Given the description of an element on the screen output the (x, y) to click on. 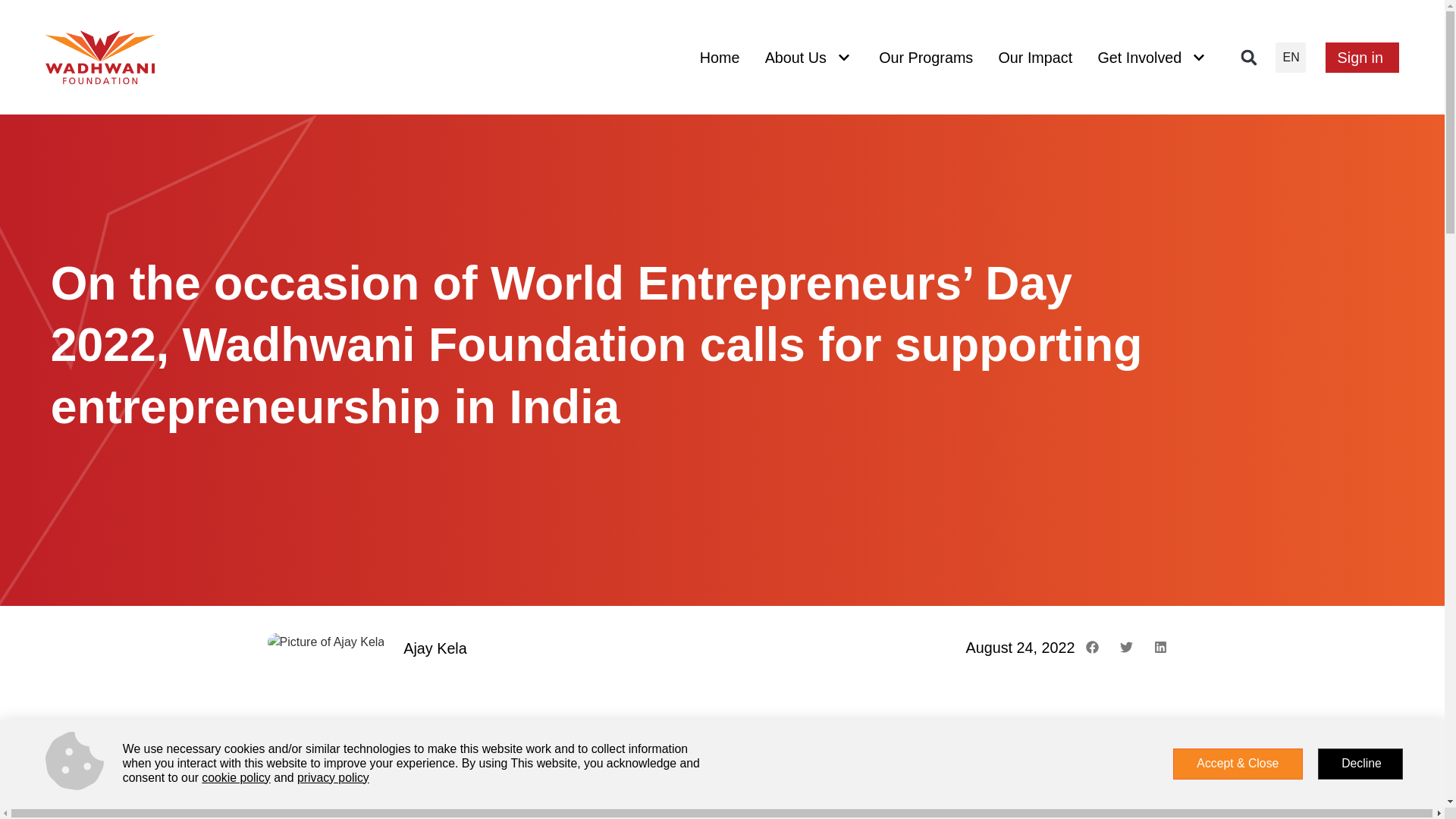
About Us (807, 57)
Home (719, 57)
Get Involved (1151, 57)
Our Programs (925, 57)
Our Impact (1034, 57)
English (1290, 57)
